Given the description of an element on the screen output the (x, y) to click on. 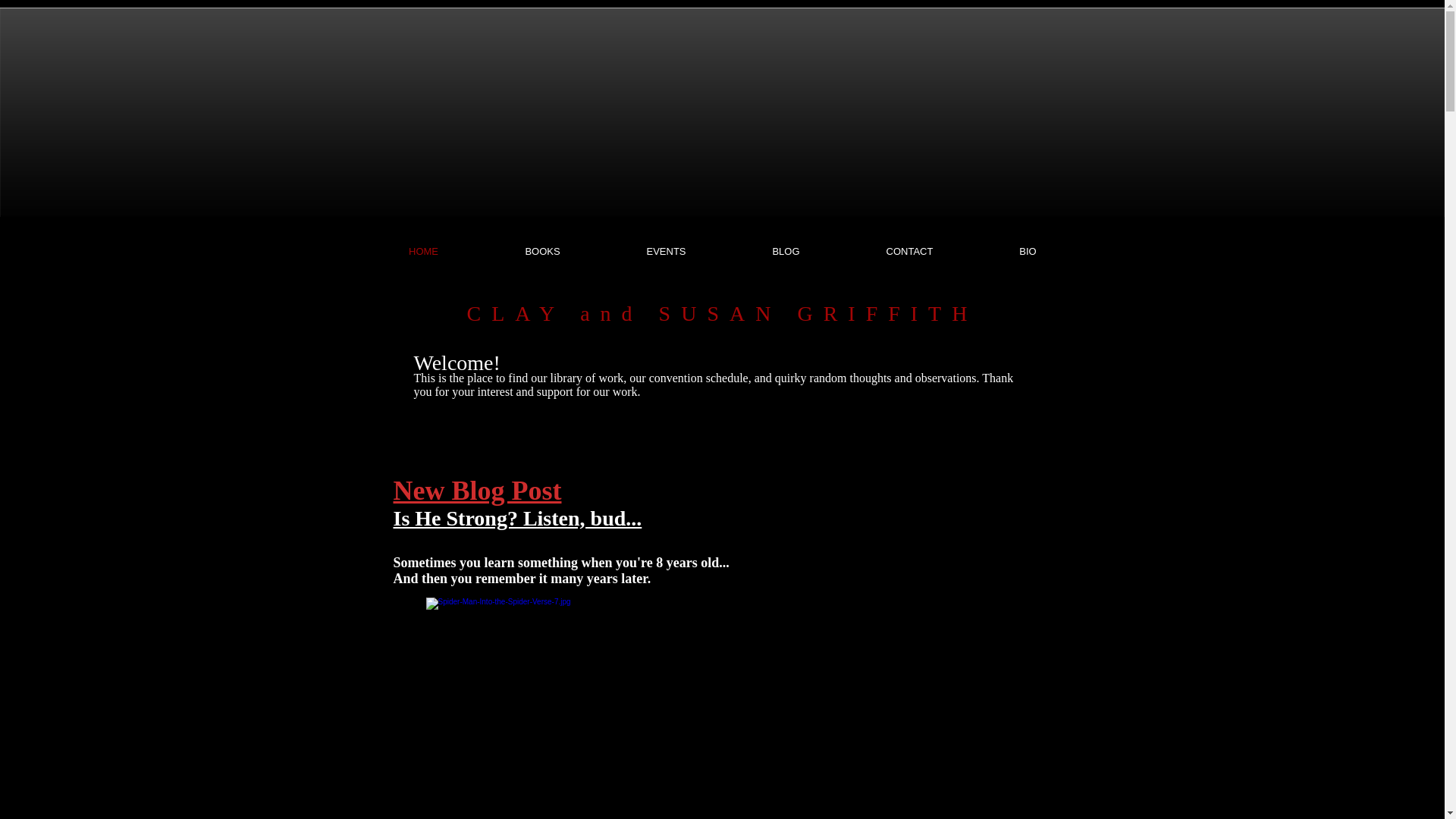
New Blog Post (476, 490)
BOOKS (542, 251)
BIO (1028, 251)
BLOG (786, 251)
Is He Strong? Listen, bud... (517, 517)
CONTACT (909, 251)
EVENTS (666, 251)
CLAY and SUSAN GRIFFITH (722, 313)
HOME (423, 251)
